Given the description of an element on the screen output the (x, y) to click on. 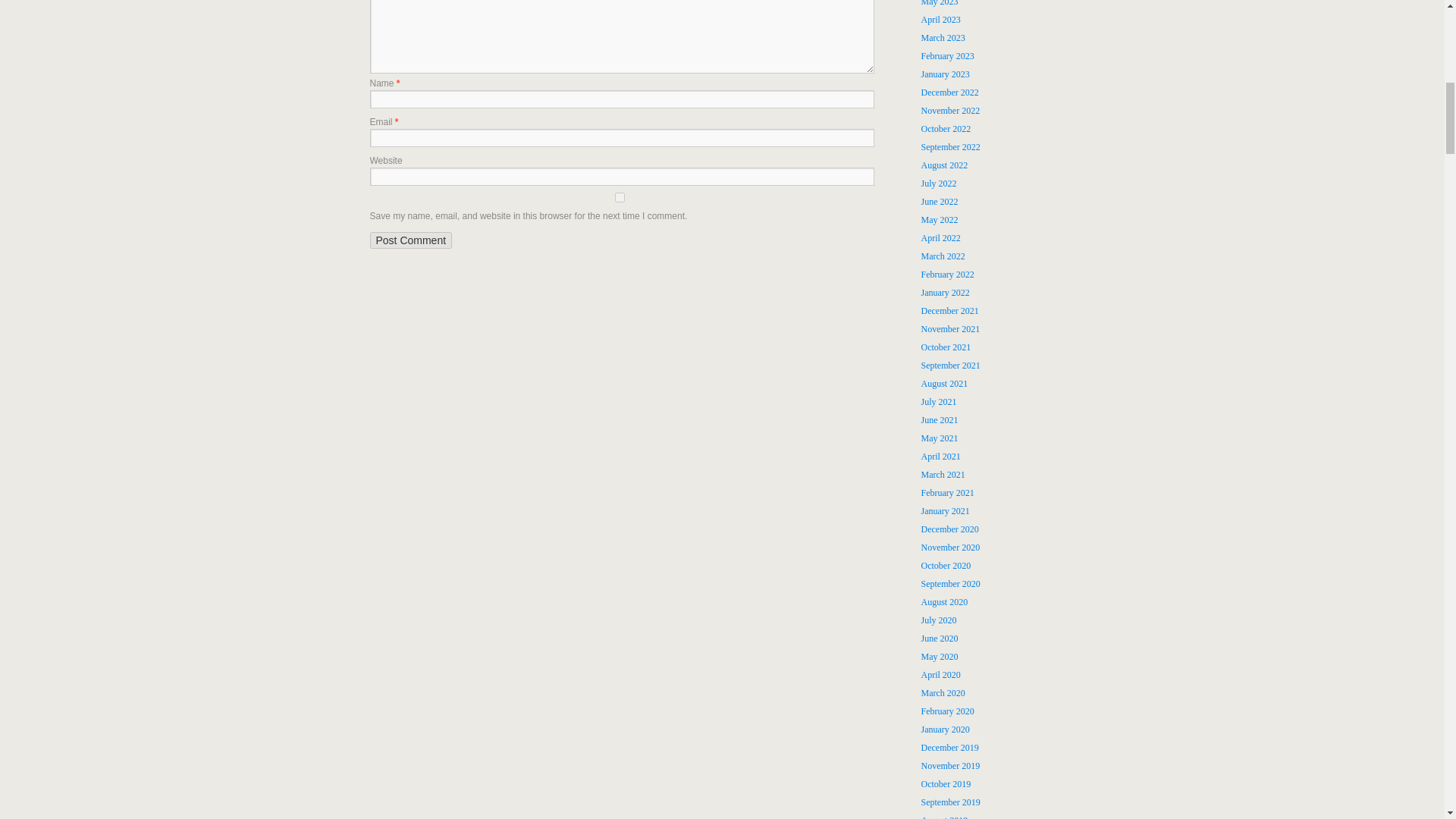
Post Comment (410, 239)
yes (619, 197)
Post Comment (410, 239)
